Given the description of an element on the screen output the (x, y) to click on. 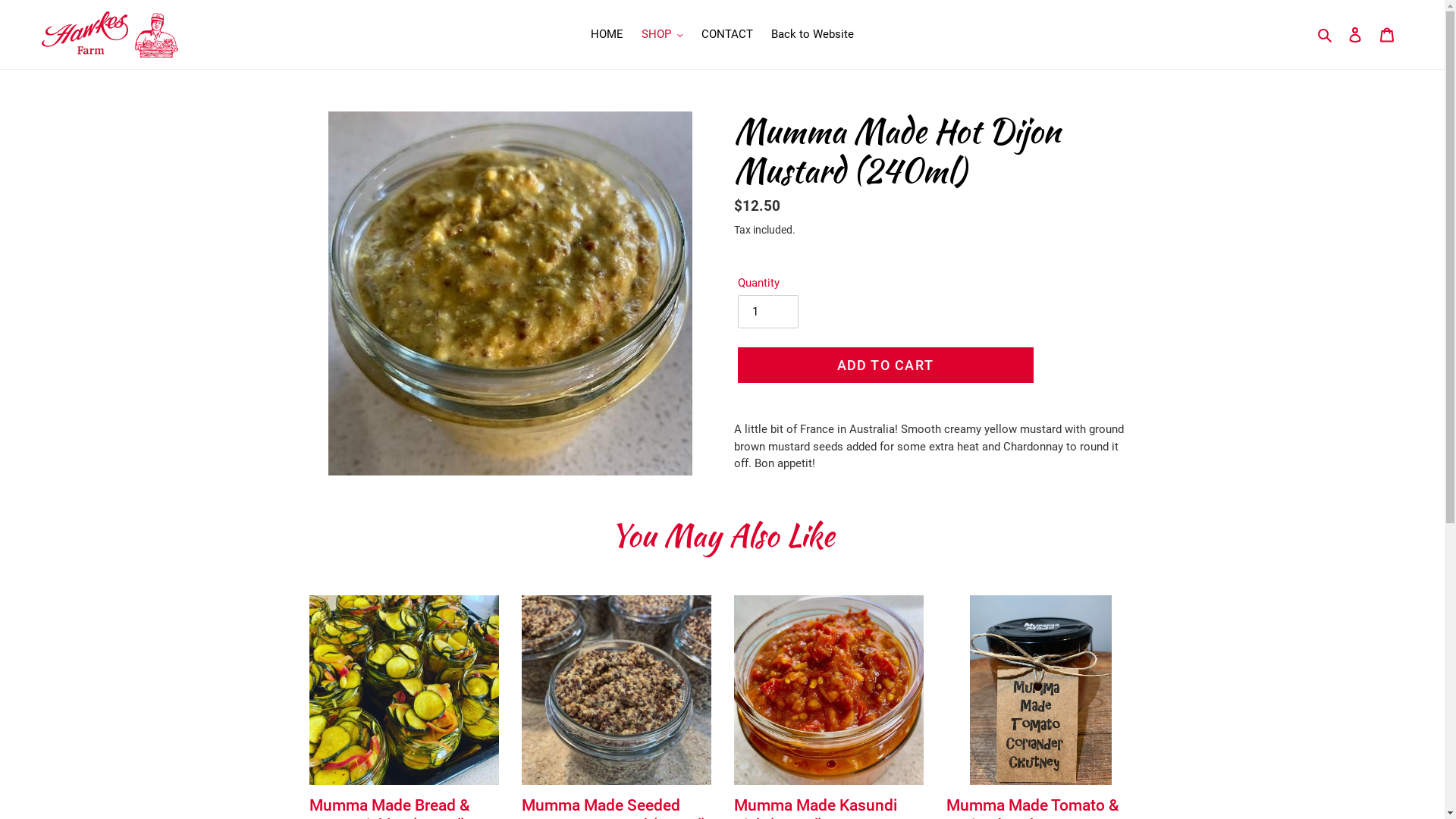
Search Element type: text (1325, 34)
CONTACT Element type: text (726, 34)
Log in Element type: text (1355, 34)
HOME Element type: text (606, 34)
ADD TO CART Element type: text (884, 364)
Cart Element type: text (1386, 34)
Back to Website Element type: text (812, 34)
SHOP Element type: text (661, 34)
